Given the description of an element on the screen output the (x, y) to click on. 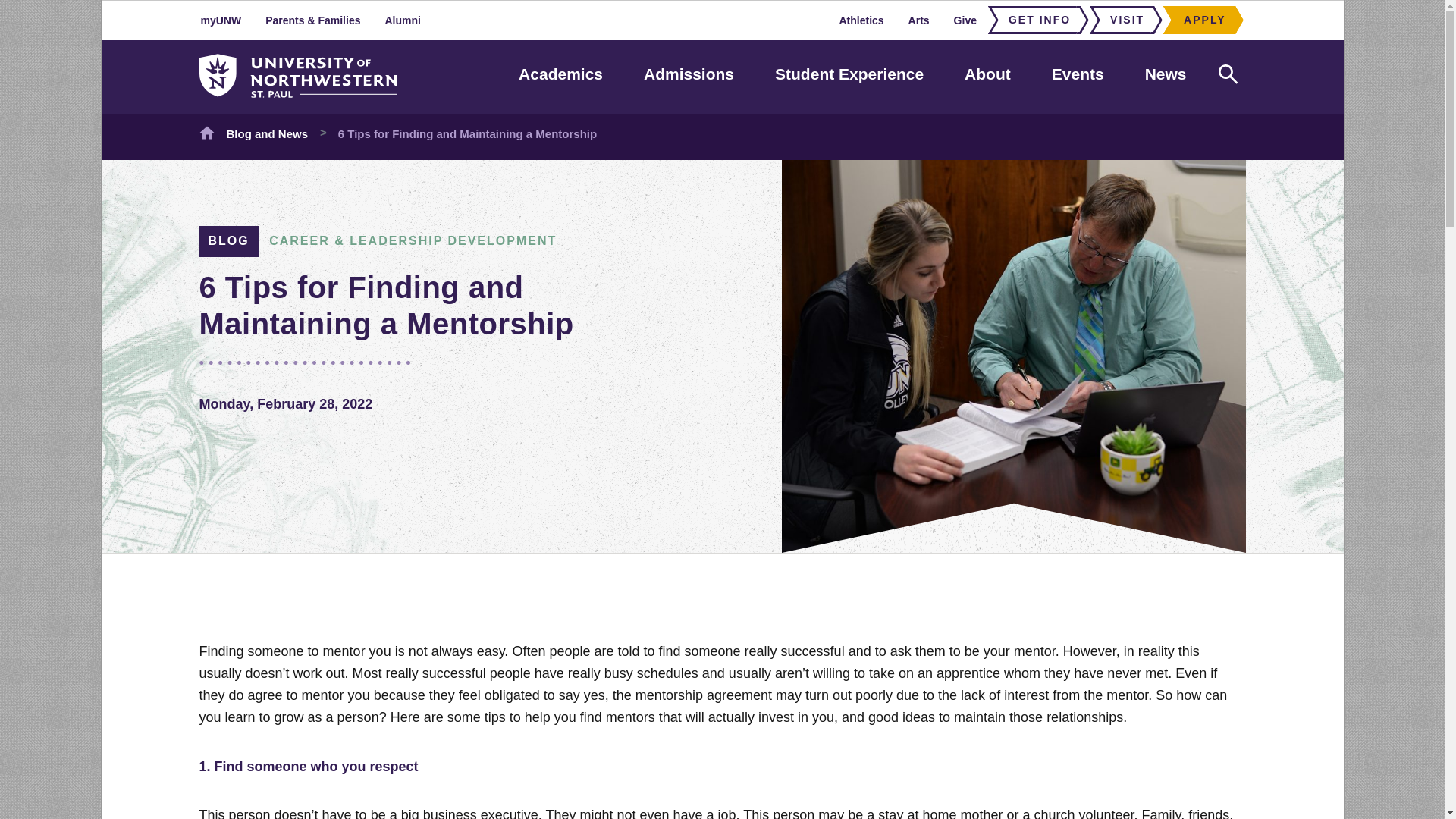
Logo Header (297, 75)
myUNW (220, 20)
Academics (560, 73)
Give (964, 20)
VISIT (1121, 20)
Arts (919, 20)
Alumni (402, 20)
Athletics (860, 20)
Admissions (688, 73)
GET INFO (1034, 20)
